Given the description of an element on the screen output the (x, y) to click on. 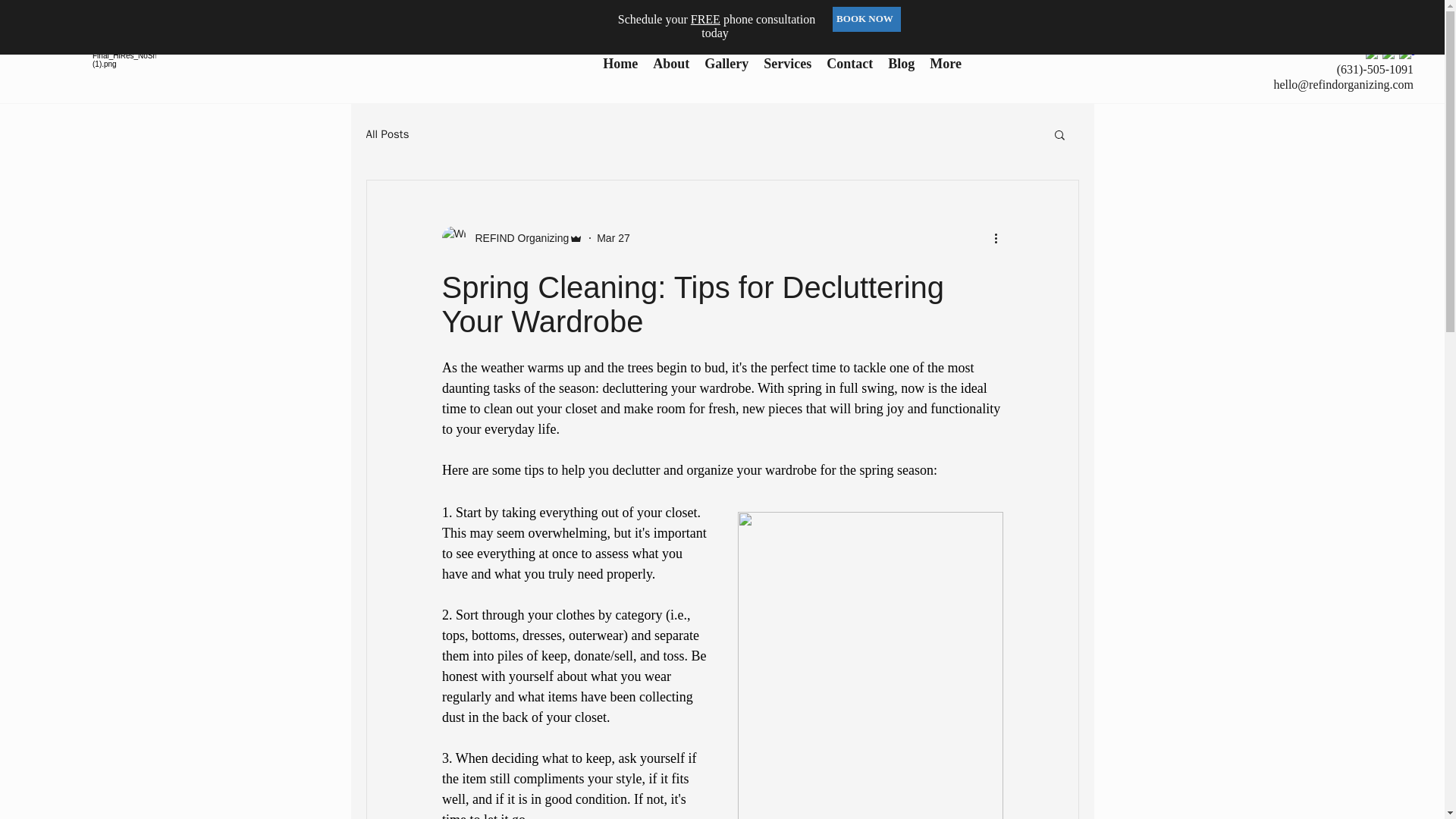
All Posts (387, 134)
REFIND Organizing (512, 238)
Services (786, 69)
Mar 27 (613, 237)
REFIND Organizing (517, 238)
Schedule your FREE phone consultation today  (716, 26)
BOOK NOW (866, 18)
Gallery (726, 69)
Contact (849, 69)
About (671, 69)
Blog (900, 69)
Home (620, 69)
